Given the description of an element on the screen output the (x, y) to click on. 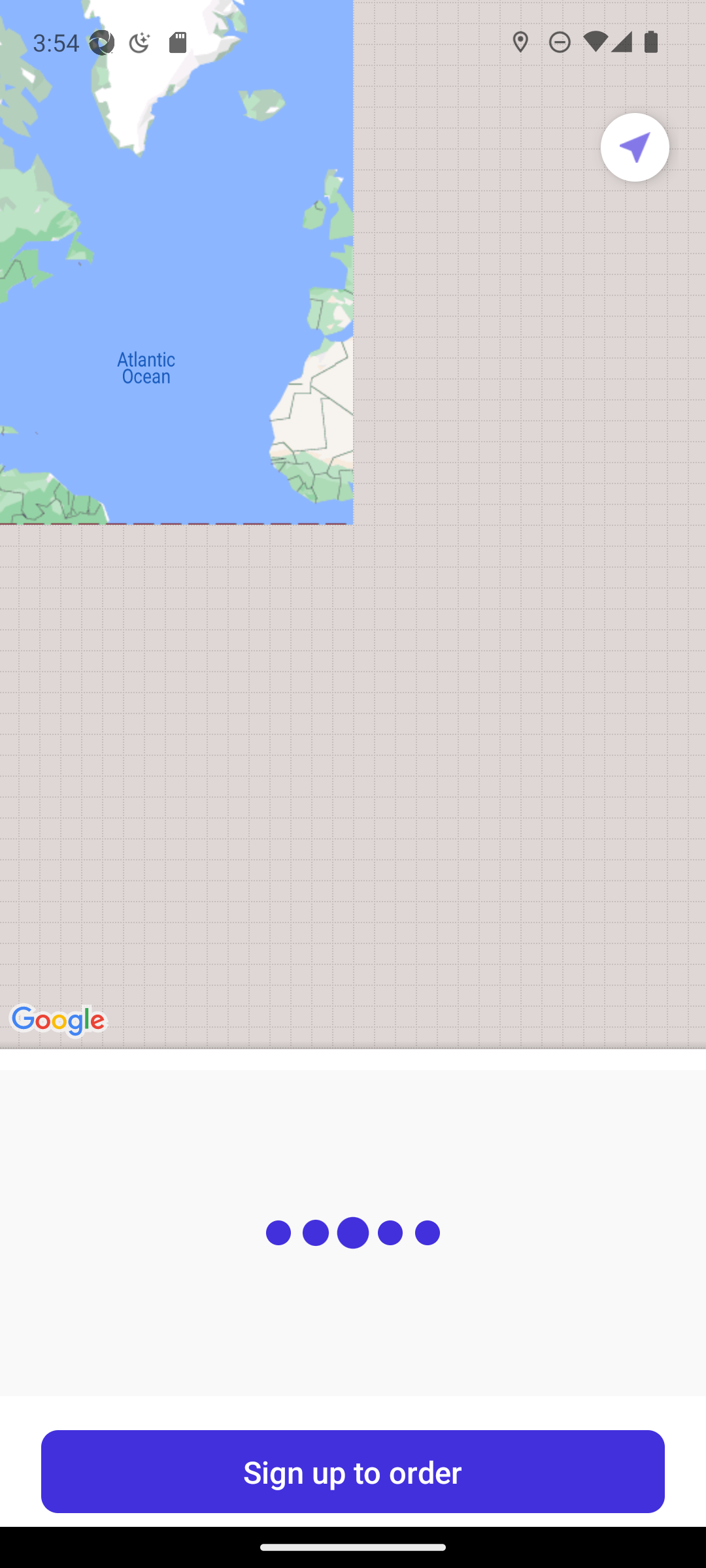
My location (634, 146)
Sign up to order (352, 1471)
